Given the description of an element on the screen output the (x, y) to click on. 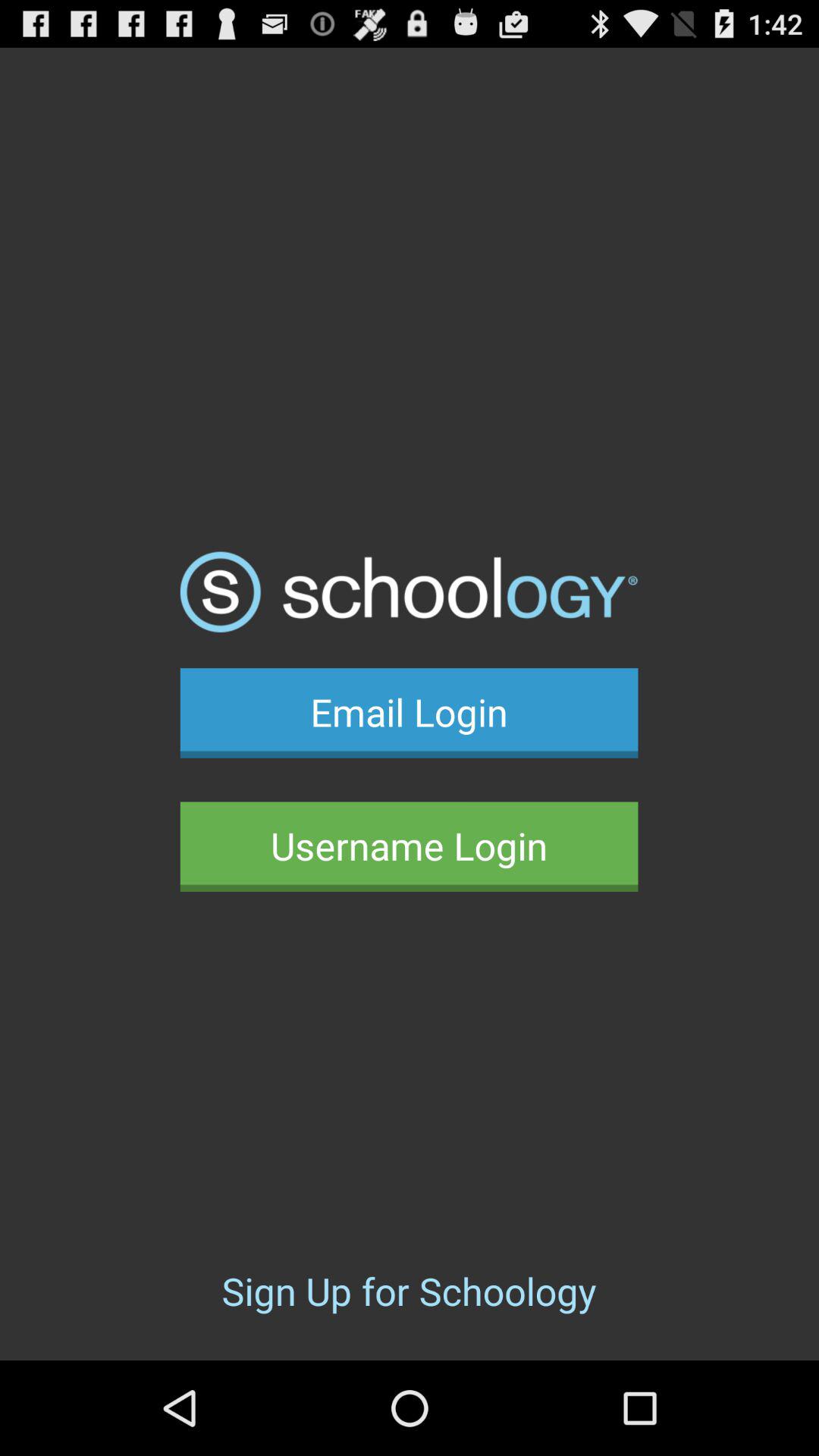
select button above the sign up for button (409, 846)
